Given the description of an element on the screen output the (x, y) to click on. 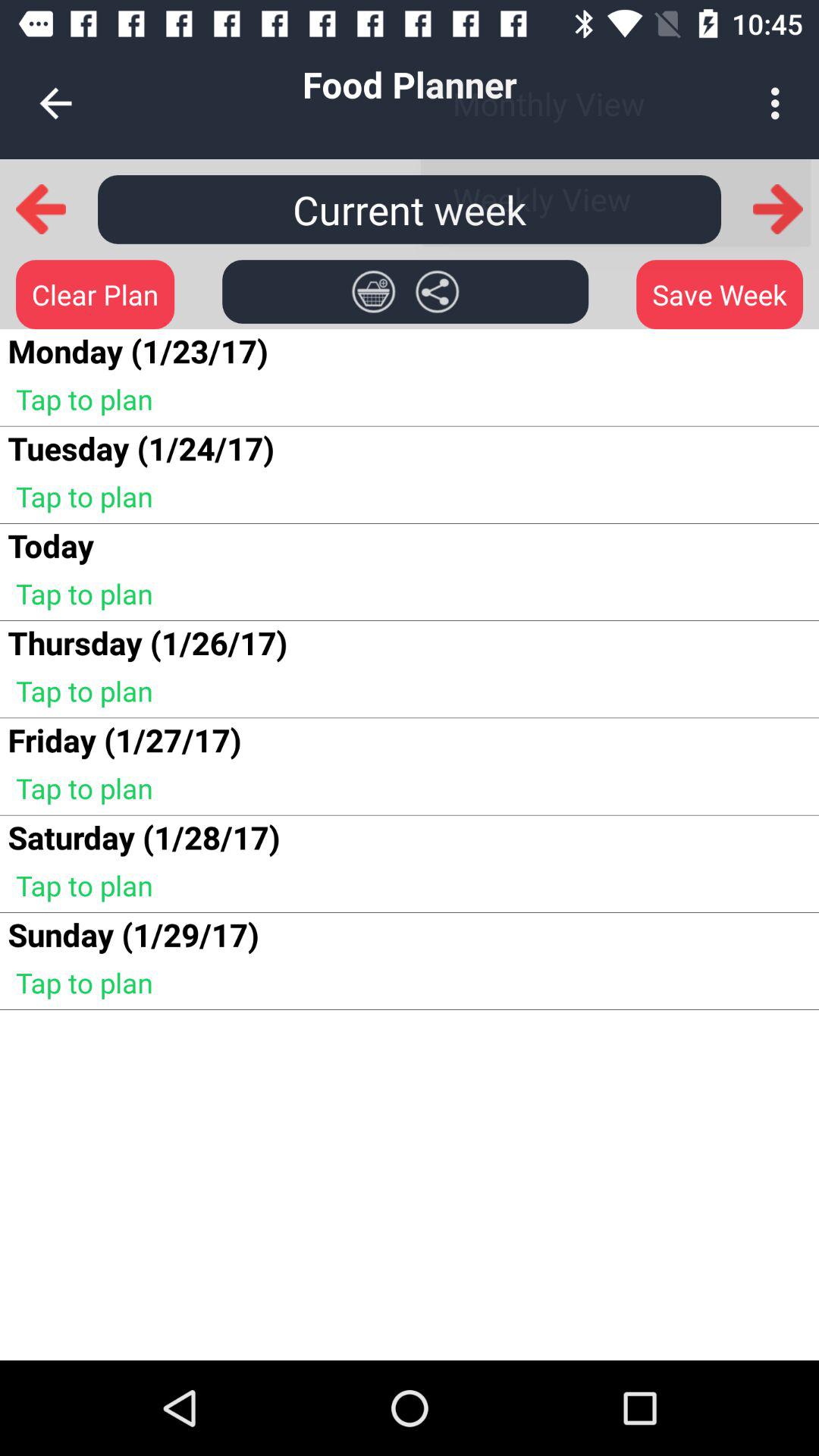
turn off item next to current week (778, 209)
